Given the description of an element on the screen output the (x, y) to click on. 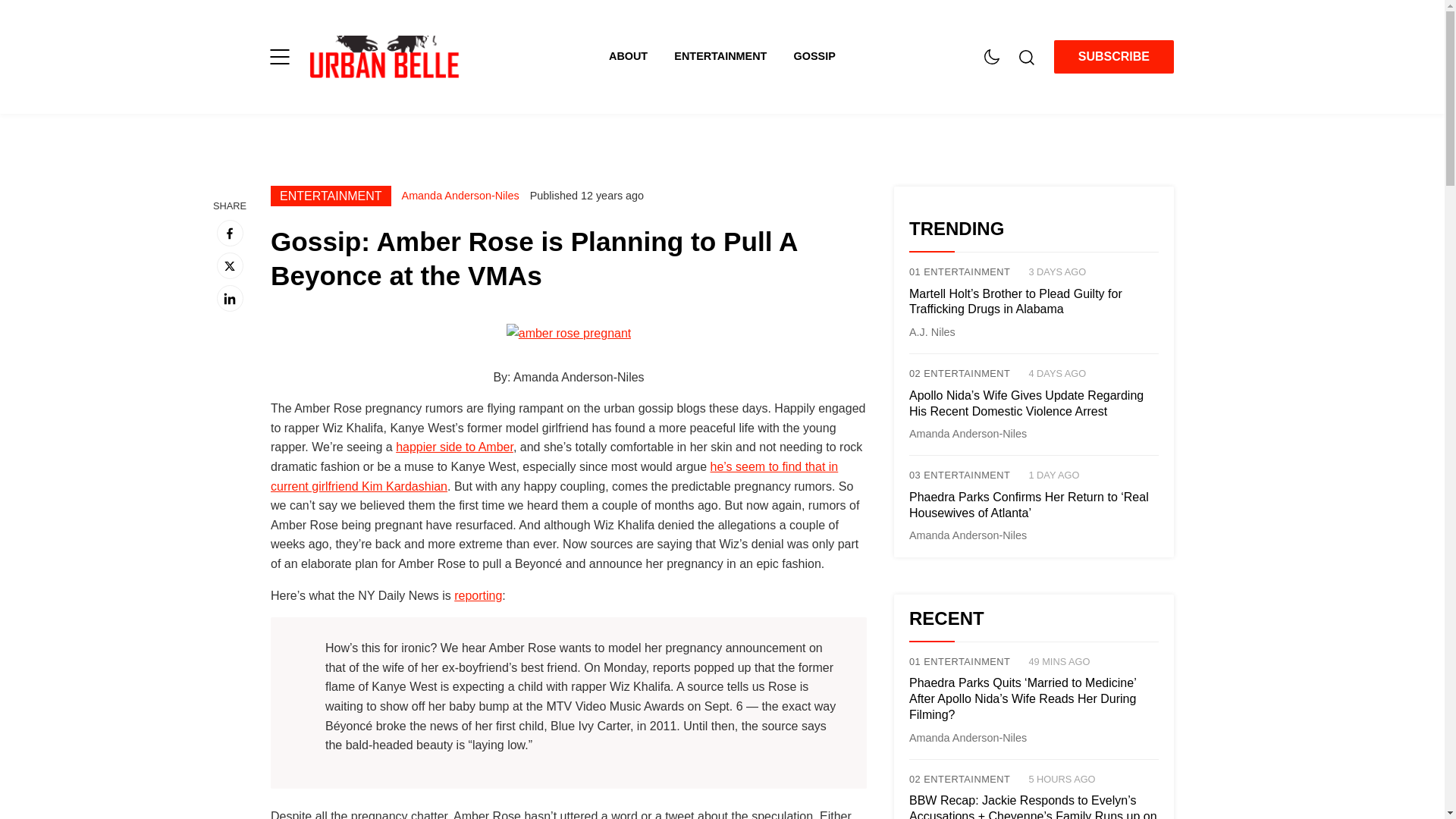
GOSSIP (814, 56)
reporting (478, 594)
ENTERTAINMENT (733, 56)
ENTERTAINMENT (330, 195)
Posts by Amanda Anderson-Niles (967, 535)
Posts by Amanda Anderson-Niles (460, 195)
Amber Rose: Wiz Khalifa Wants To Have 12 Kids With Me (454, 446)
Posts by Amanda Anderson-Niles (967, 433)
ABOUT (641, 56)
Navigation Toggler (279, 56)
happier side to Amber (454, 446)
SUBSCRIBE (1113, 56)
SUBSCRIBE (1113, 57)
amber rose pregnant (568, 333)
Amanda Anderson-Niles (460, 195)
